Given the description of an element on the screen output the (x, y) to click on. 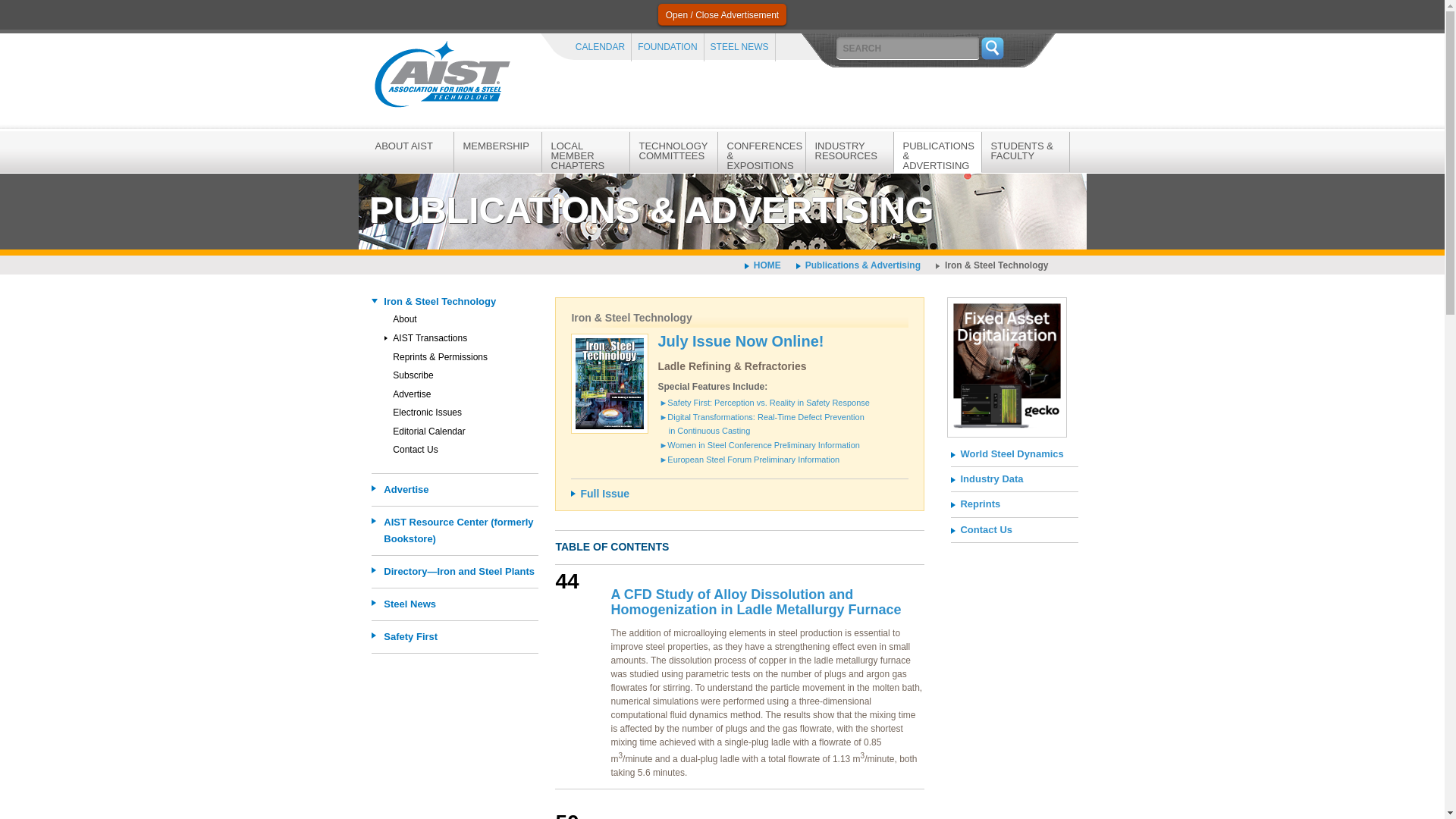
LOCAL MEMBER CHAPTERS (584, 155)
TECHNOLOGY COMMITTEES (672, 149)
MEMBERSHIP (496, 144)
ABOUT AIST (408, 144)
STEEL NEWS (739, 46)
FOUNDATION (667, 46)
CALENDAR (599, 46)
